Given the description of an element on the screen output the (x, y) to click on. 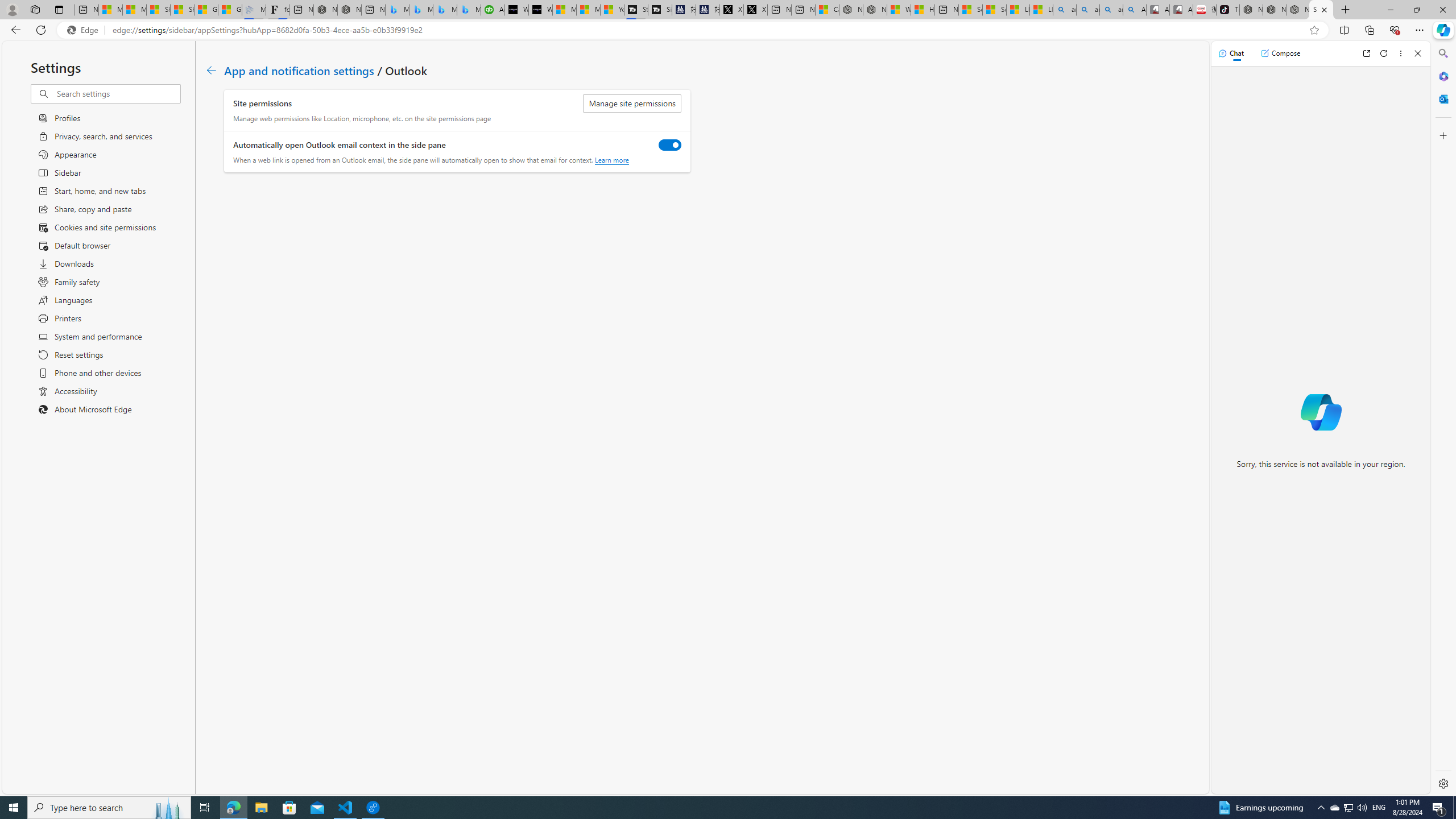
Go back to App and notification settings page. (210, 70)
Open link in new tab (1366, 53)
Microsoft Bing Travel - Stays in Bangkok, Bangkok, Thailand (421, 9)
Nordace Siena Pro 15 Backpack (1274, 9)
TikTok (1227, 9)
